Given the description of an element on the screen output the (x, y) to click on. 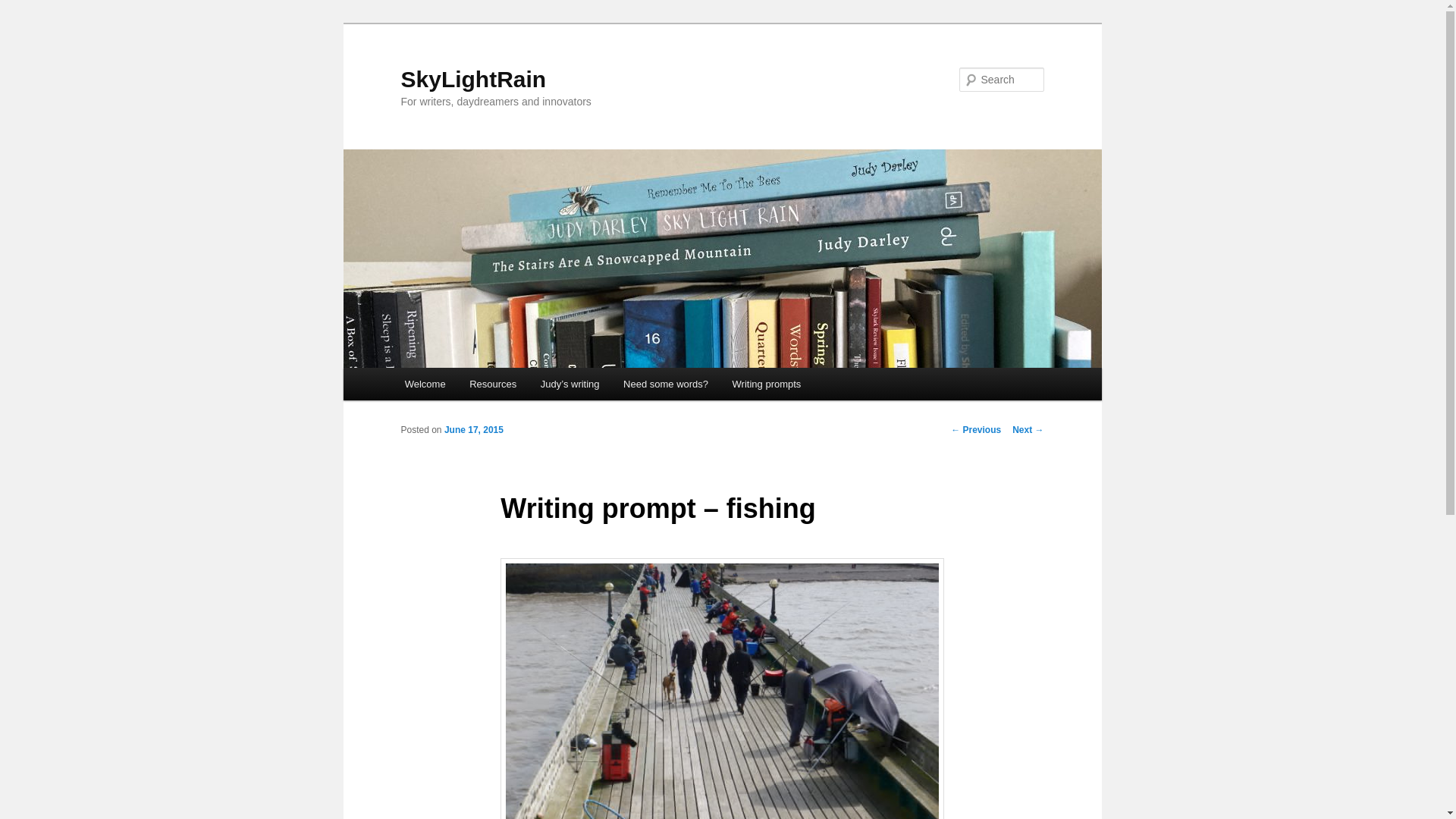
Need some words? (665, 383)
SkyLightRain (473, 78)
Writing prompts (766, 383)
Welcome (425, 383)
Resources (492, 383)
June 17, 2015 (473, 429)
Search (24, 8)
